Given the description of an element on the screen output the (x, y) to click on. 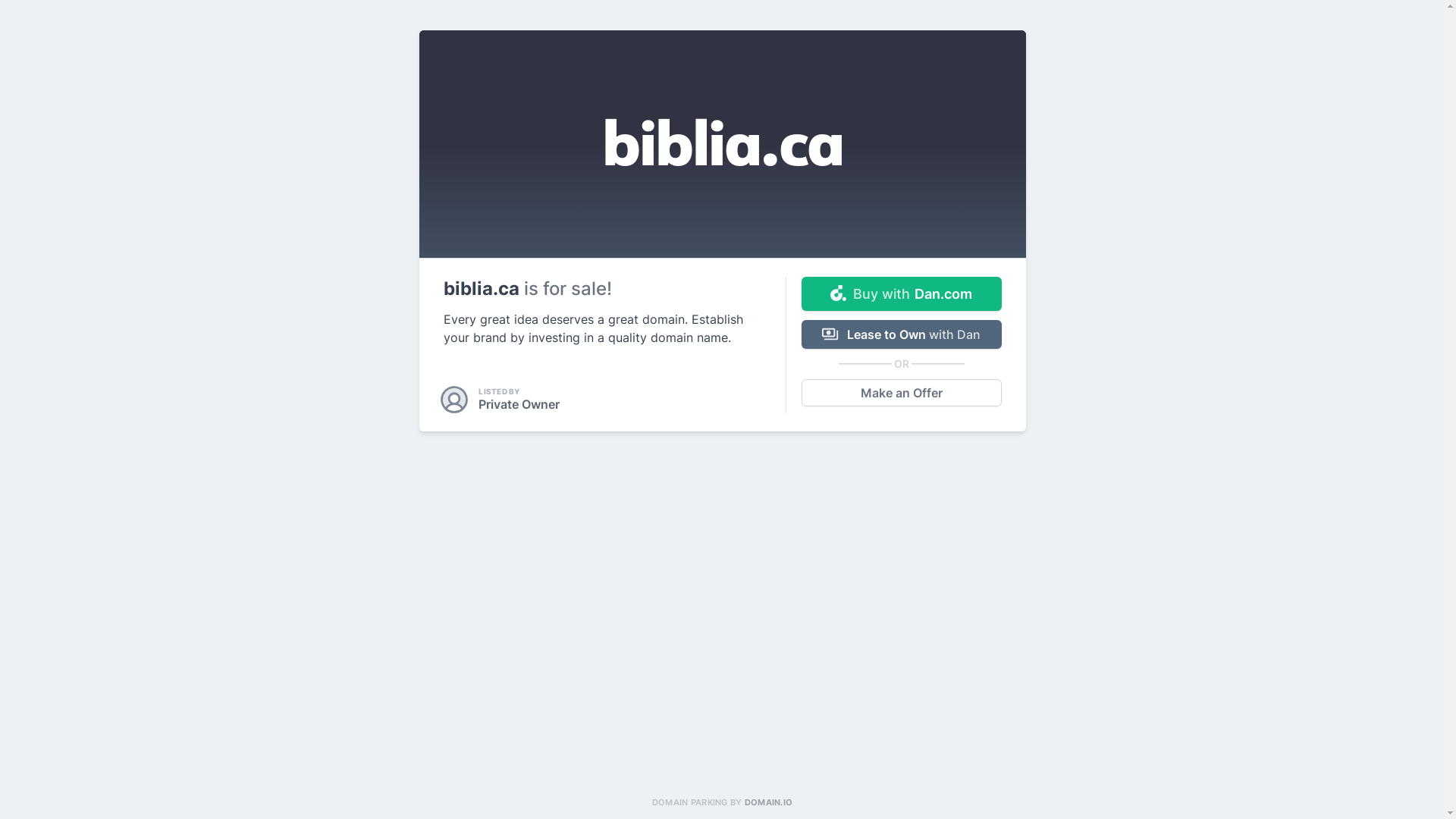
LISTED BY
Private Owner Element type: text (500, 399)
Lease to Own with Dan Element type: text (900, 334)
DOMAIN PARKING BY DOMAIN.IO Element type: text (722, 802)
Buy with Dan.com Element type: text (900, 293)
Make an Offer Element type: text (900, 392)
